Given the description of an element on the screen output the (x, y) to click on. 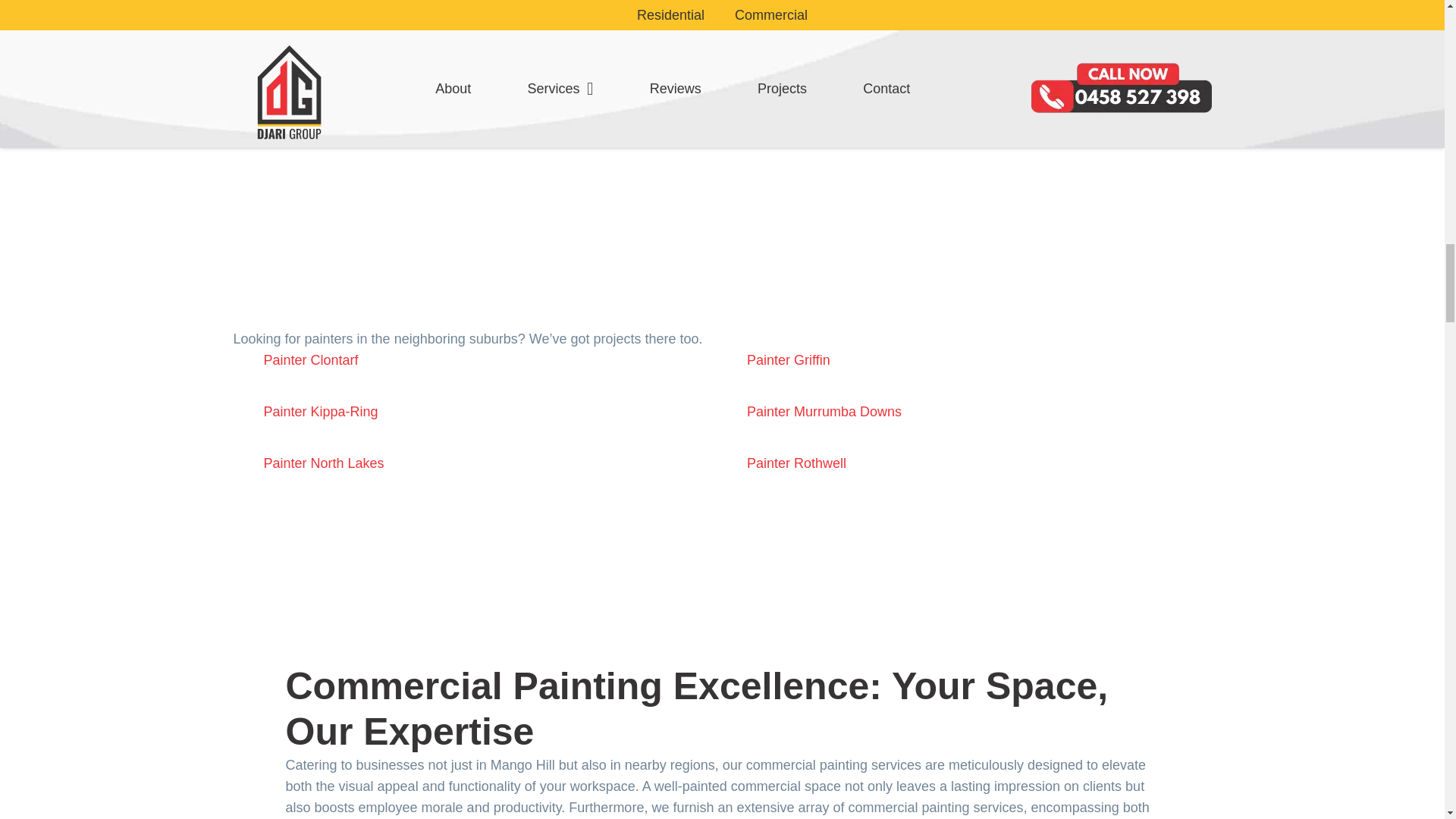
Painter Murrumba Downs (823, 411)
Painter Rothwell (795, 462)
Painter Griffin (787, 359)
Painter Kippa-Ring (320, 411)
Painter Murrumba Downs (823, 411)
Painter North Lakes (323, 462)
Painter Rothwell (795, 462)
Painter Kippa-Ring (320, 411)
Painter Clontarf (310, 359)
Painter Clontarf (310, 359)
Painter Griffin (787, 359)
Painter North Lakes (323, 462)
